Given the description of an element on the screen output the (x, y) to click on. 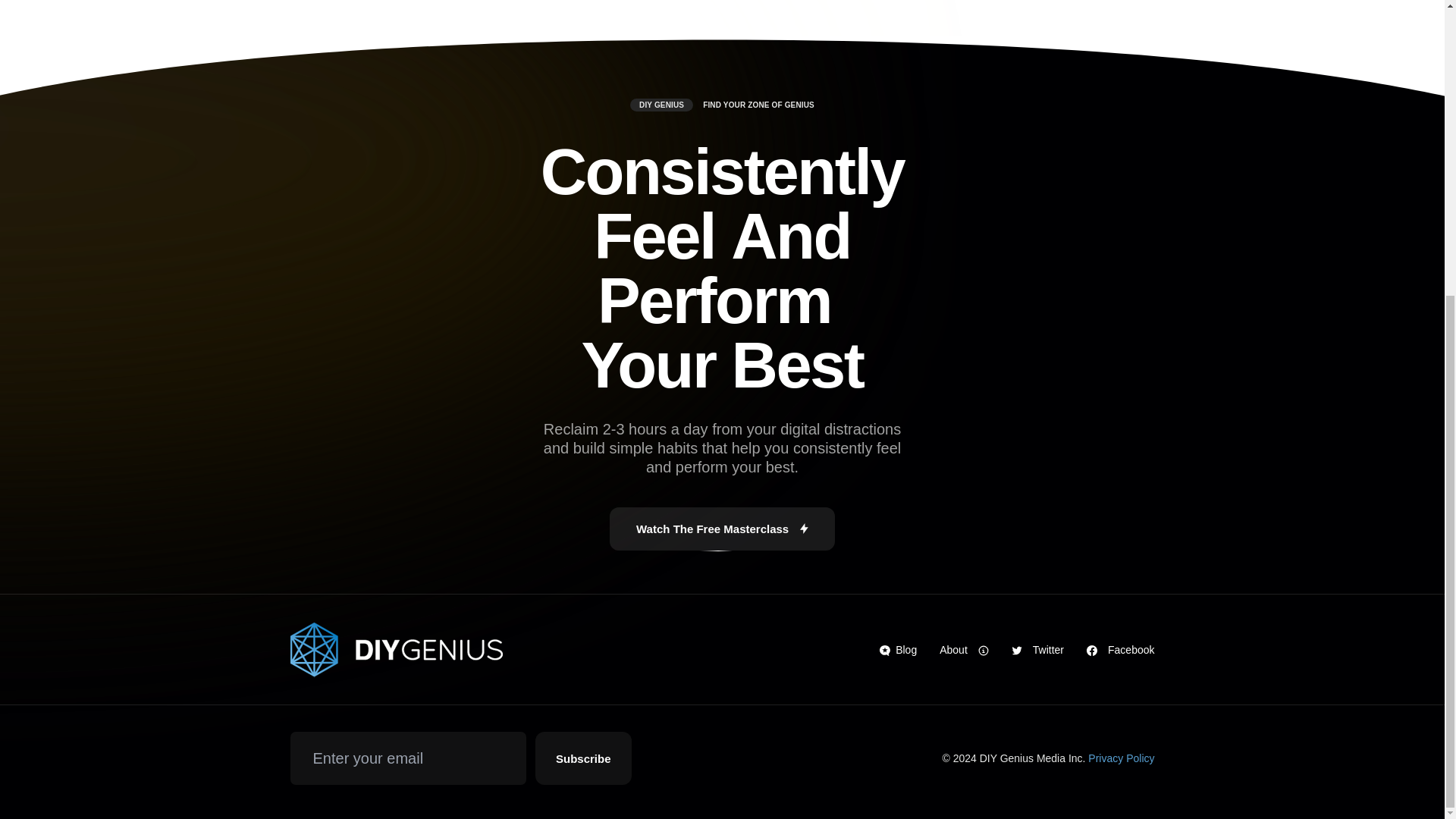
About (963, 649)
Blog (898, 649)
Twitter (1037, 649)
Facebook (1120, 649)
Privacy Policy (1120, 758)
Watch The Free Masterclass (722, 528)
Subscribe (583, 758)
